Given the description of an element on the screen output the (x, y) to click on. 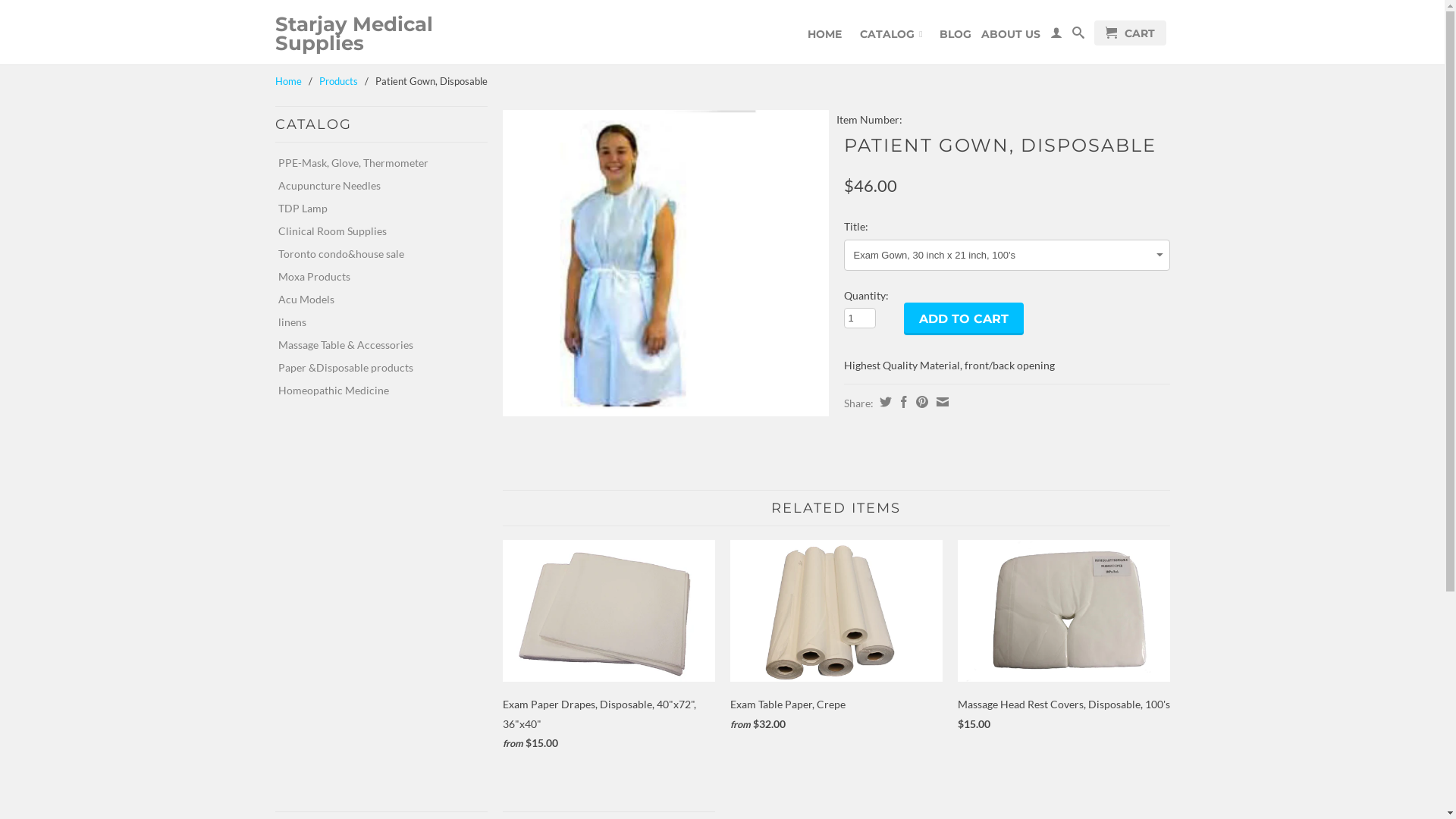
Exam Table Paper, Crepe
from $32.00 Element type: text (835, 639)
BLOG Element type: text (954, 37)
Share this on Facebook Element type: hover (901, 401)
Email this to a friend Element type: hover (940, 401)
Moxa Products Element type: text (374, 276)
Clinical Room Supplies Element type: text (374, 231)
Massage Head Rest Covers, Disposable, 100's
$15.00 Element type: text (1063, 638)
Massage Table & Accessories Element type: text (374, 344)
PPE-Mask, Glove, Thermometer Element type: text (374, 162)
Products Element type: text (337, 81)
Starjay Medical Supplies Element type: text (380, 34)
HOME Element type: text (824, 37)
Add to Cart Element type: text (963, 318)
Acu Models Element type: text (374, 299)
Share this on Twitter Element type: hover (883, 401)
Home Element type: text (287, 81)
linens Element type: text (374, 322)
Share this on Pinterest Element type: hover (919, 401)
My Account  Element type: hover (1055, 36)
Homeopathic Medicine Element type: text (374, 390)
ABOUT US Element type: text (1010, 37)
Exam Paper Drapes, Disposable, 40"x72", 36"x40"
from $15.00 Element type: text (608, 648)
Patient Gown, Disposable Element type: hover (665, 262)
Search Element type: hover (1078, 36)
TDP Lamp Element type: text (374, 208)
Paper &Disposable products Element type: text (374, 367)
Acupuncture Needles Element type: text (374, 185)
Toronto condo&house sale Element type: text (374, 253)
CART Element type: text (1129, 32)
